Given the description of an element on the screen output the (x, y) to click on. 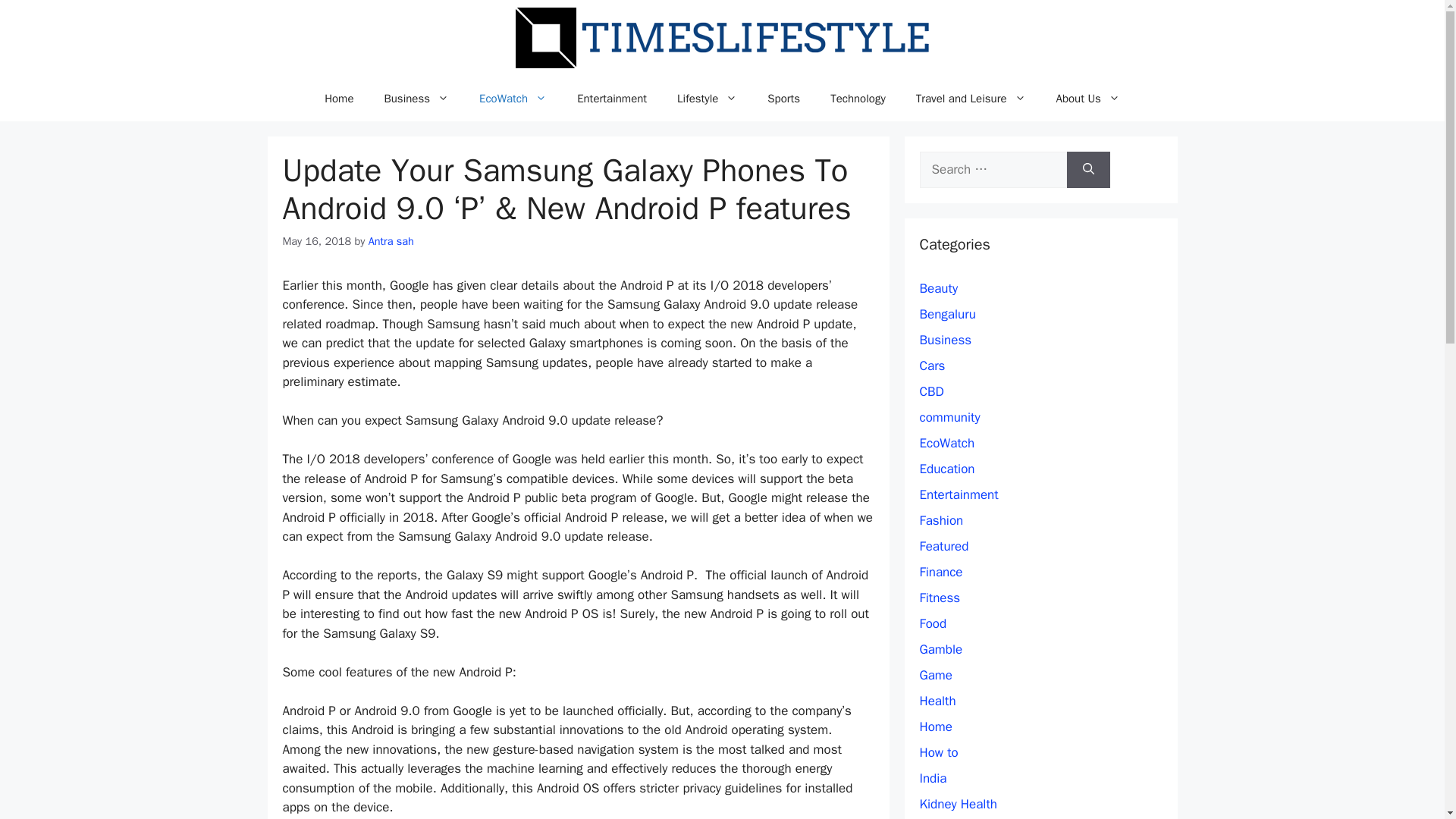
Bengaluru (946, 314)
Cars (931, 365)
Travel and Leisure (971, 98)
EcoWatch (513, 98)
CBD (930, 391)
Home (338, 98)
EcoWatch (946, 442)
Lifestyle (707, 98)
About Us (1088, 98)
Beauty (938, 288)
